Given the description of an element on the screen output the (x, y) to click on. 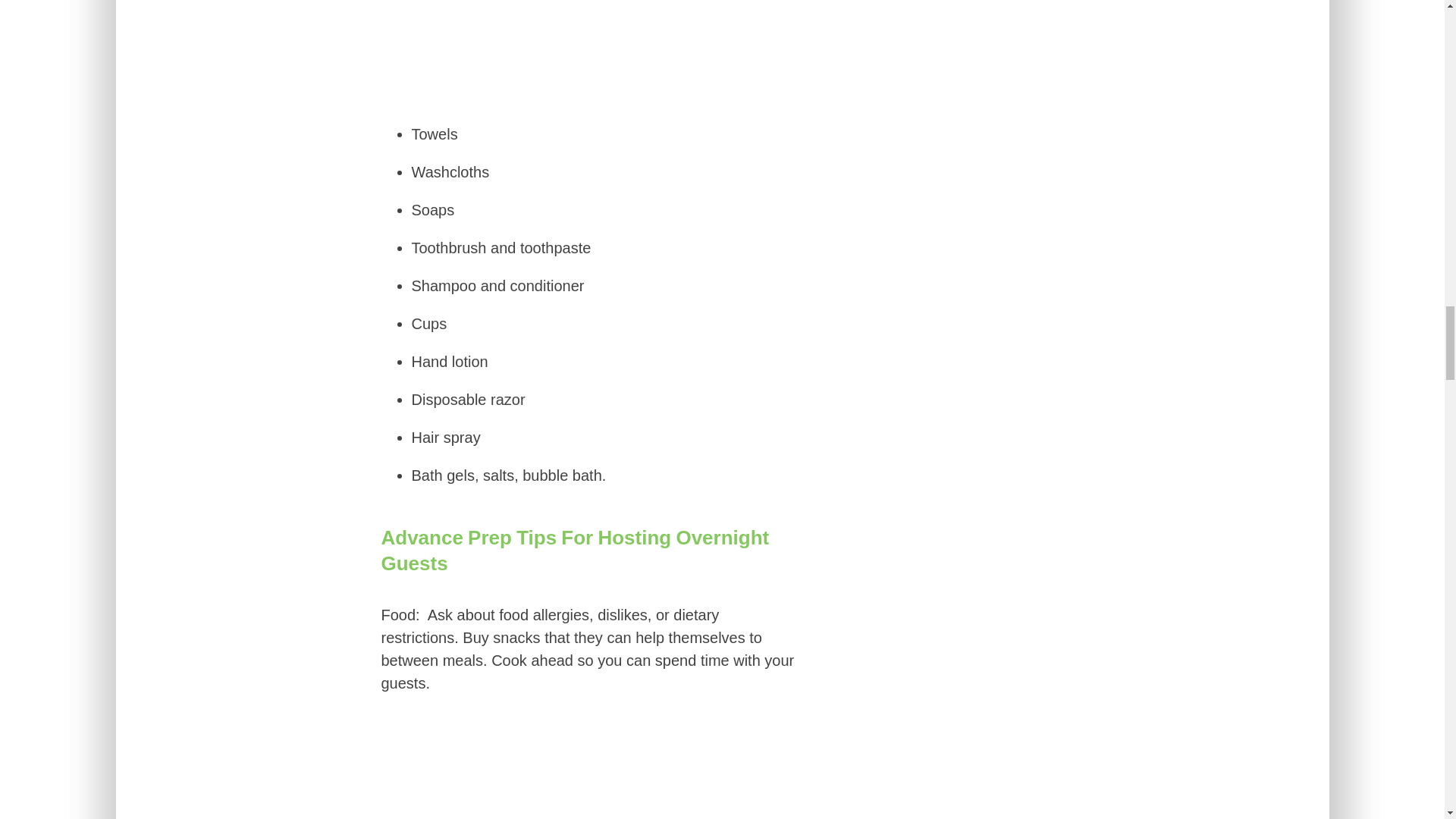
Go to Easy Guest Bathroom Ideas (589, 95)
Bulldog in small red sweater. (588, 764)
Bathroom outfitted with towels and guest treats. (589, 51)
